Given the description of an element on the screen output the (x, y) to click on. 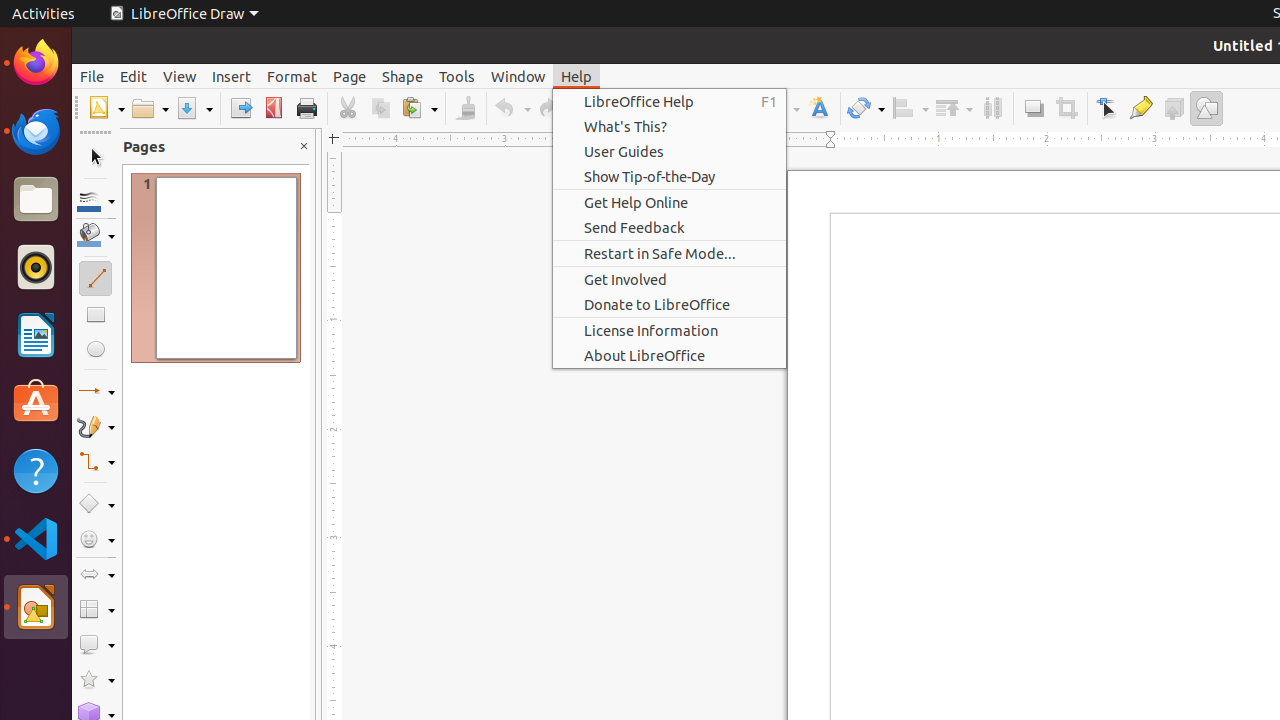
Donate to LibreOffice Element type: menu-item (669, 304)
Arrange Element type: push-button (954, 108)
Cut Element type: push-button (347, 108)
User Guides Element type: menu-item (669, 151)
Transformations Element type: push-button (866, 108)
